Given the description of an element on the screen output the (x, y) to click on. 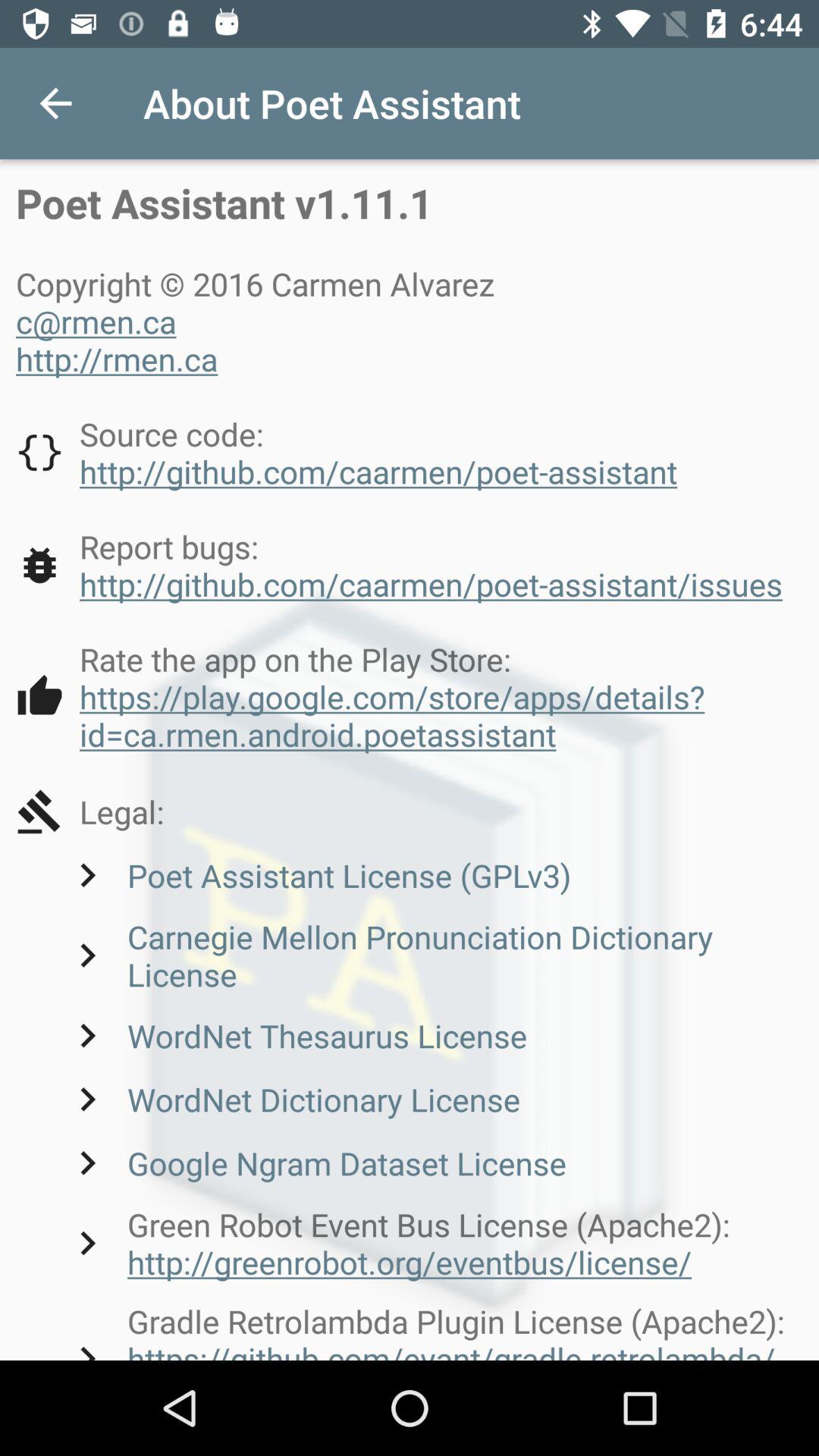
jump until source code http icon (346, 452)
